Given the description of an element on the screen output the (x, y) to click on. 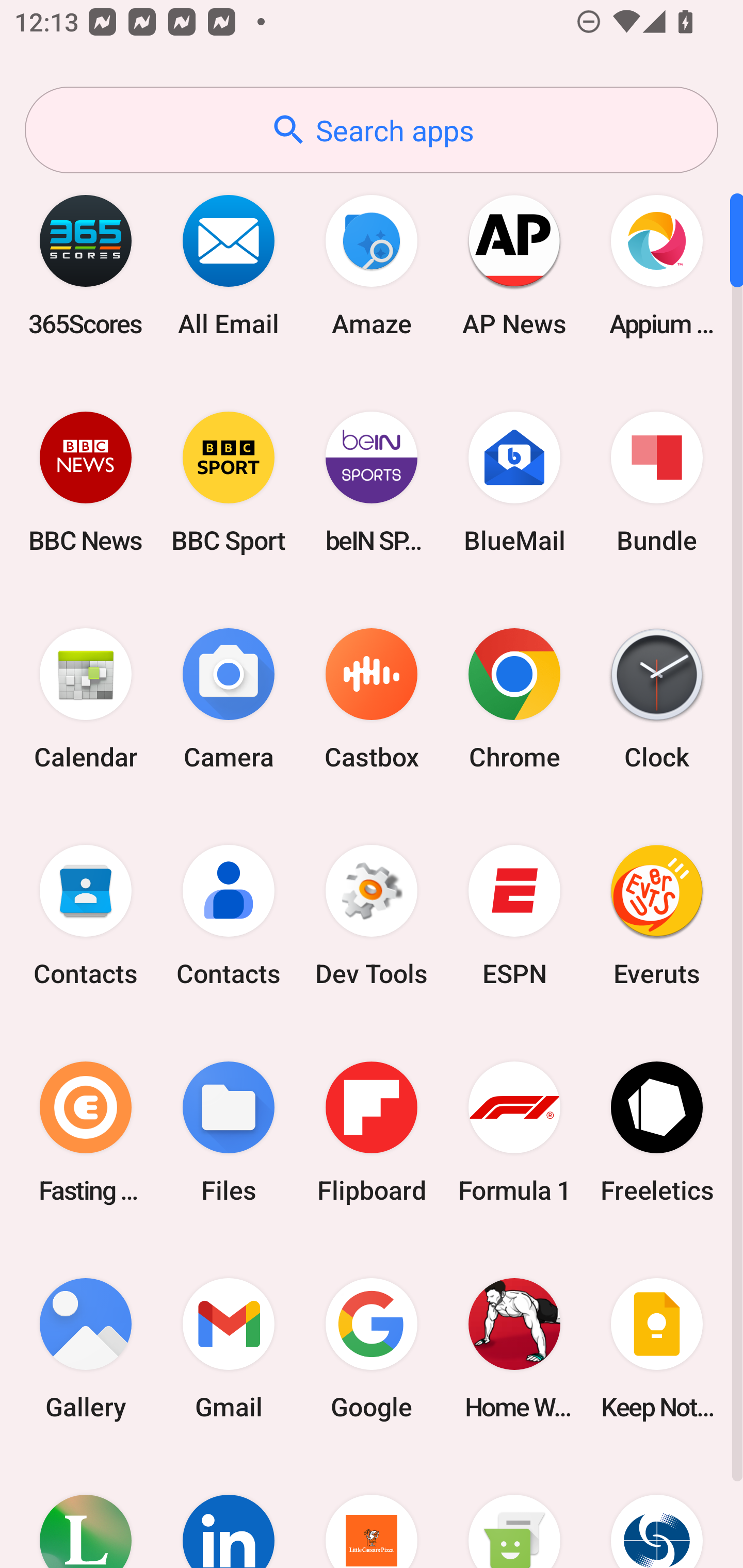
  Search apps (371, 130)
365Scores (85, 264)
All Email (228, 264)
Amaze (371, 264)
AP News (514, 264)
Appium Settings (656, 264)
BBC News (85, 482)
BBC Sport (228, 482)
beIN SPORTS (371, 482)
BlueMail (514, 482)
Bundle (656, 482)
Calendar (85, 699)
Camera (228, 699)
Castbox (371, 699)
Chrome (514, 699)
Clock (656, 699)
Contacts (85, 915)
Contacts (228, 915)
Dev Tools (371, 915)
ESPN (514, 915)
Everuts (656, 915)
Fasting Coach (85, 1131)
Files (228, 1131)
Flipboard (371, 1131)
Formula 1 (514, 1131)
Freeletics (656, 1131)
Gallery (85, 1348)
Gmail (228, 1348)
Google (371, 1348)
Home Workout (514, 1348)
Keep Notes (656, 1348)
